Given the description of an element on the screen output the (x, y) to click on. 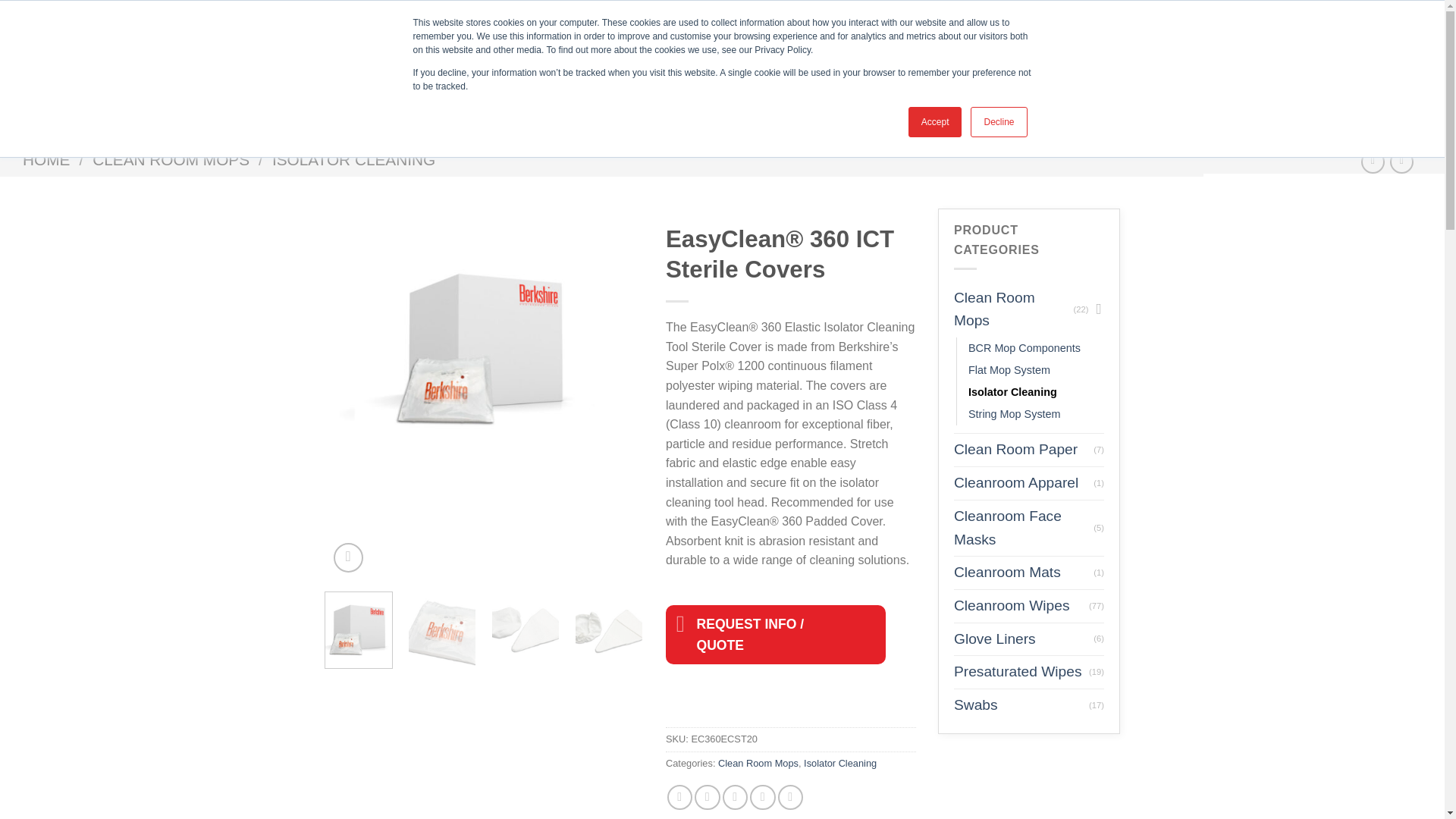
 Contact Us (1166, 10)
ABOUT US (1060, 74)
INDUSTRIES (1144, 74)
Accept (935, 122)
Find Account Manager (1283, 10)
Decline (998, 122)
PRODUCTS (1231, 74)
